Given the description of an element on the screen output the (x, y) to click on. 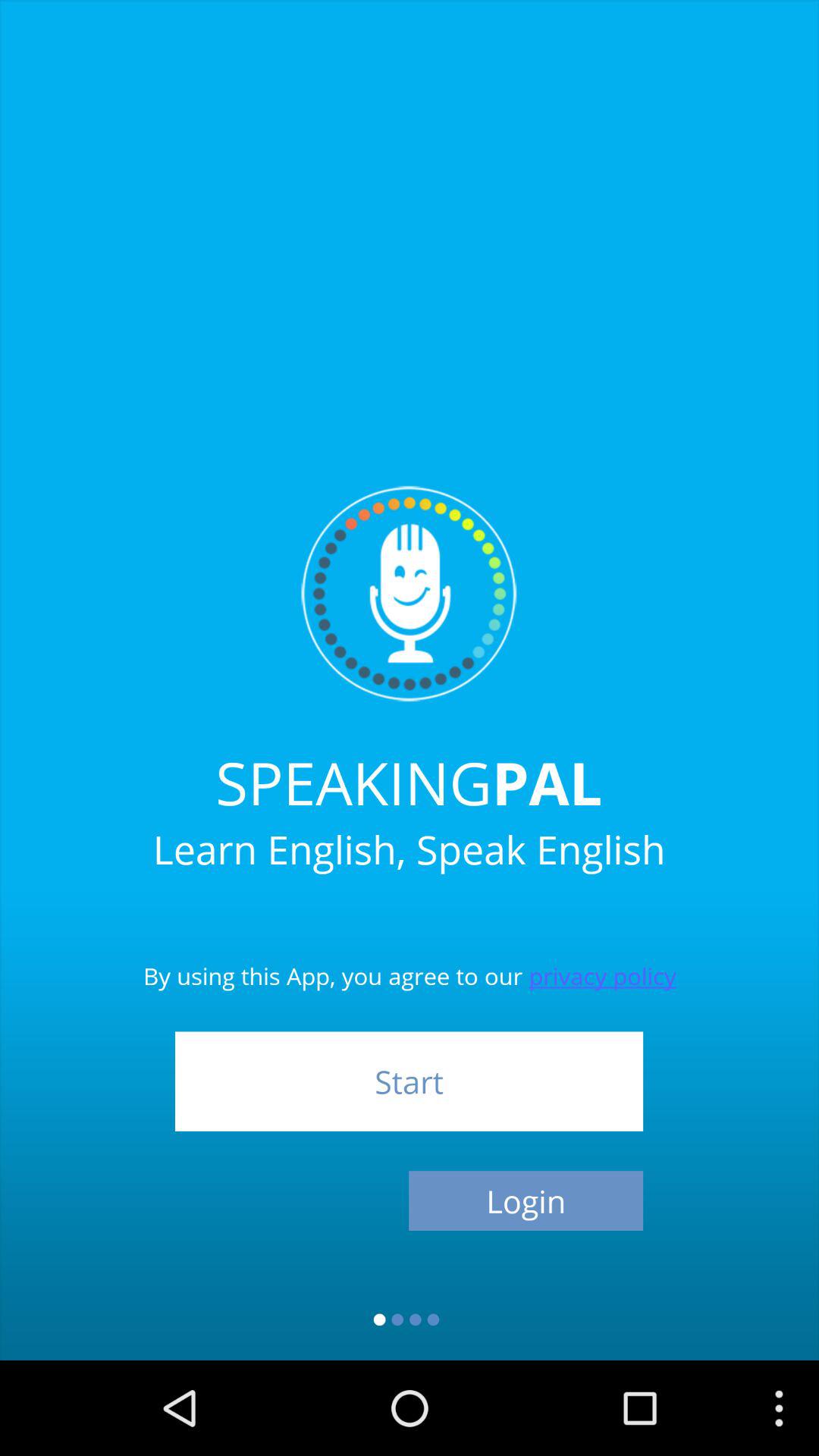
click the by using this item (409, 951)
